Given the description of an element on the screen output the (x, y) to click on. 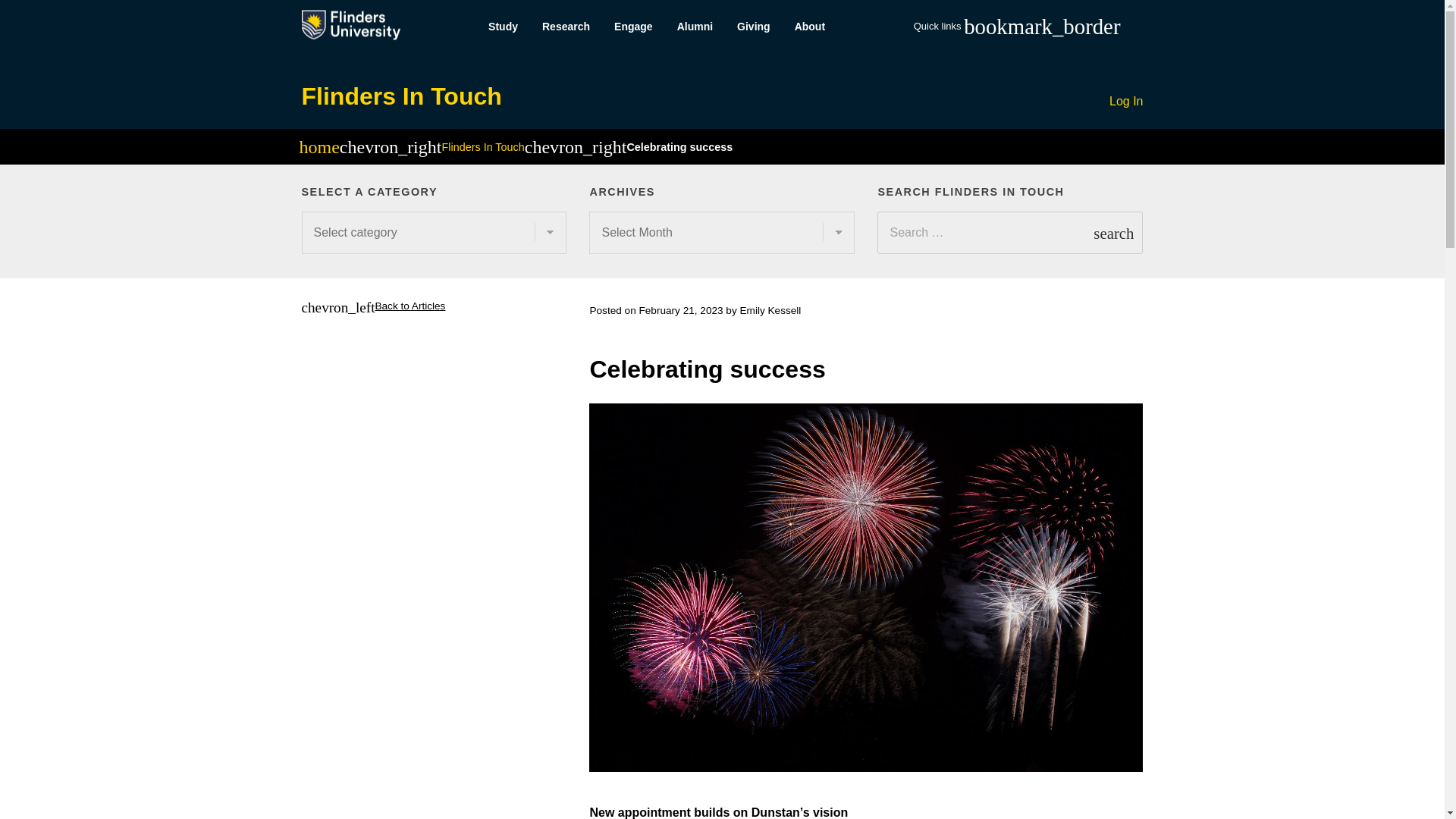
Emily Kessell (770, 310)
About (810, 26)
Flinders In Touch (482, 146)
search (1113, 232)
Study (502, 26)
BIG TICK FOR CAGE-DIVING PROGRAM (1192, 339)
Giving (754, 26)
Log In (1125, 101)
Homepage (318, 149)
Alumni (695, 26)
